Given the description of an element on the screen output the (x, y) to click on. 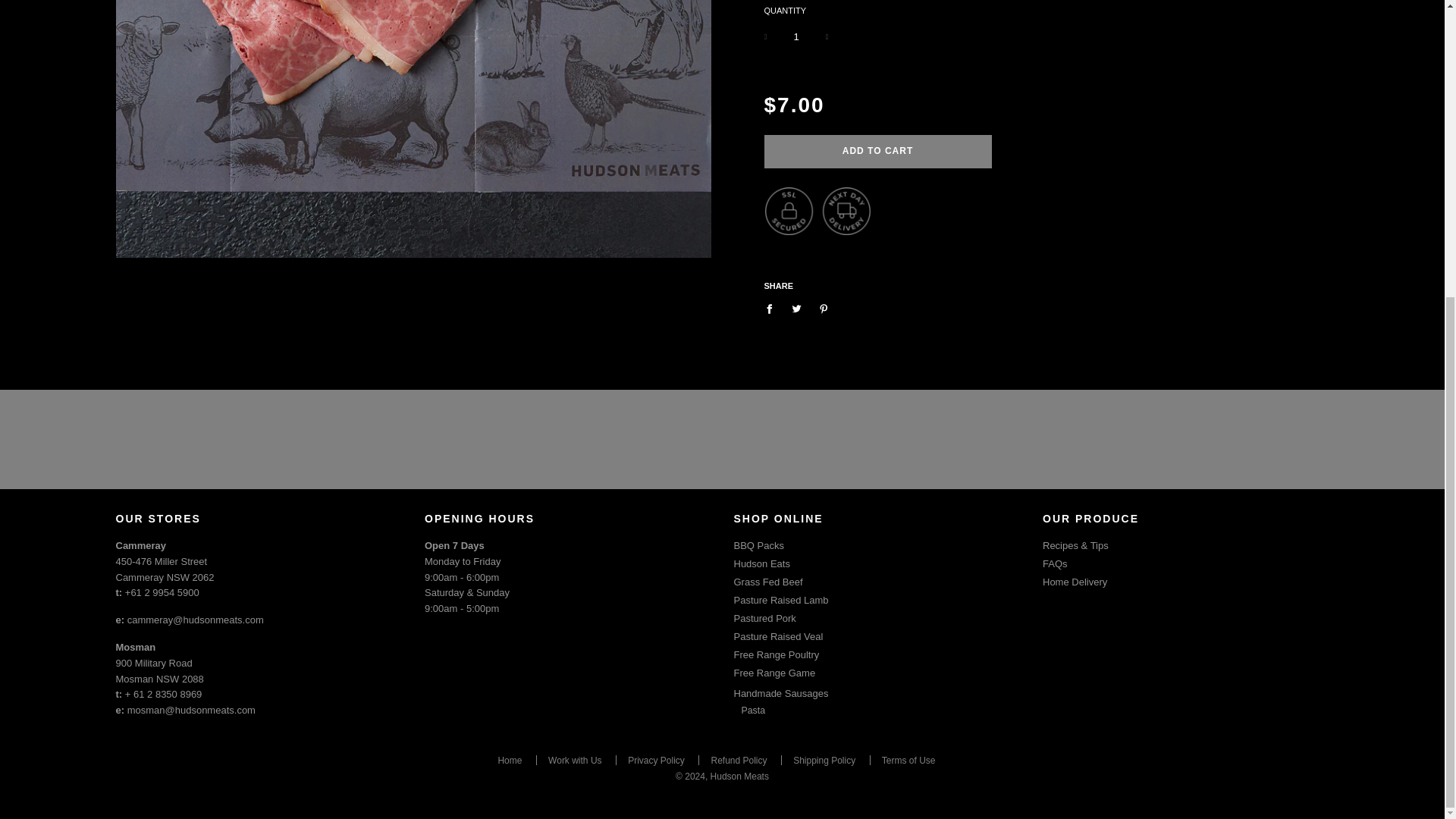
1 (796, 37)
